Given the description of an element on the screen output the (x, y) to click on. 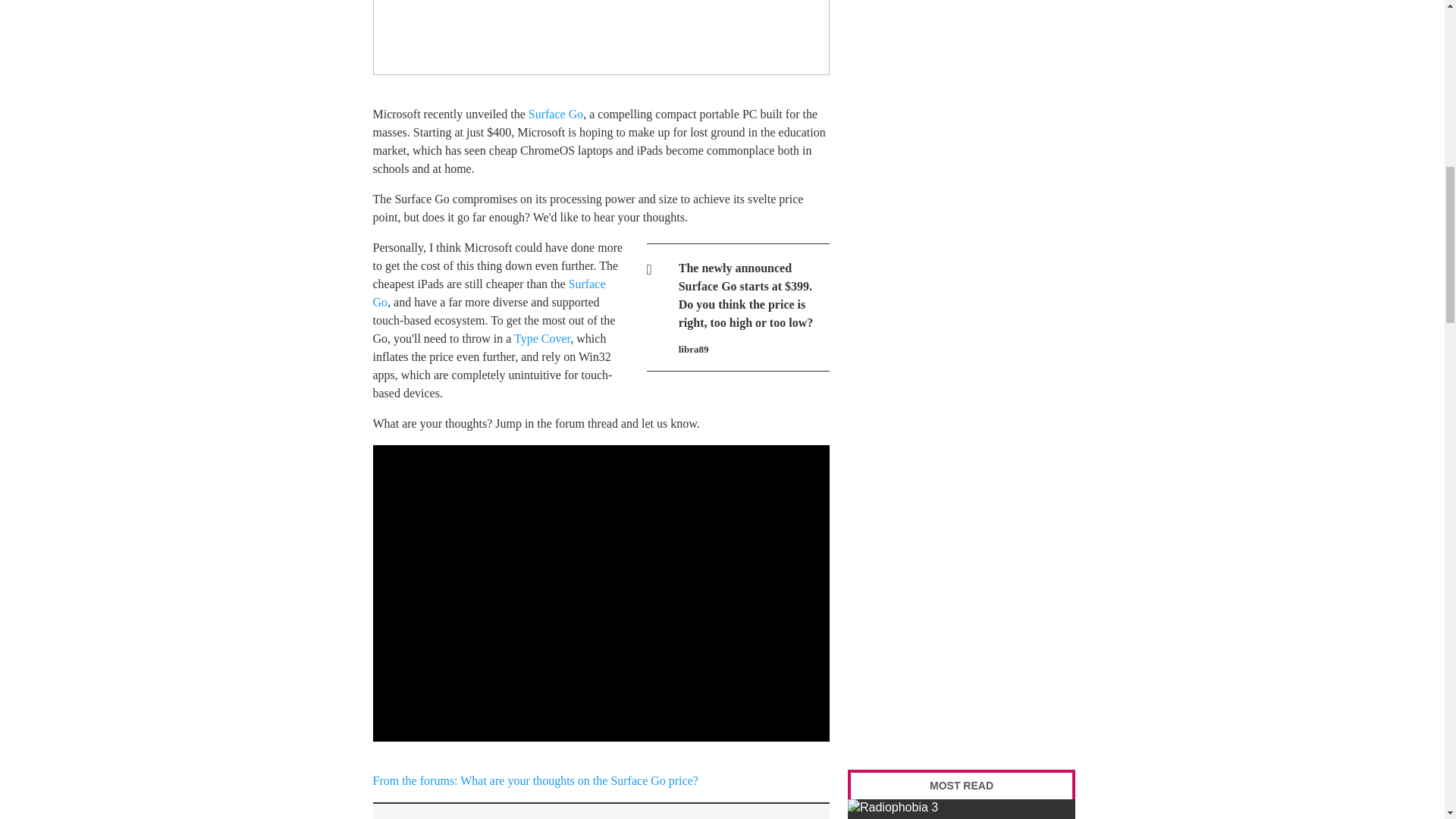
Surface Go (555, 113)
Type Cover (541, 338)
Surface Go (488, 292)
